Given the description of an element on the screen output the (x, y) to click on. 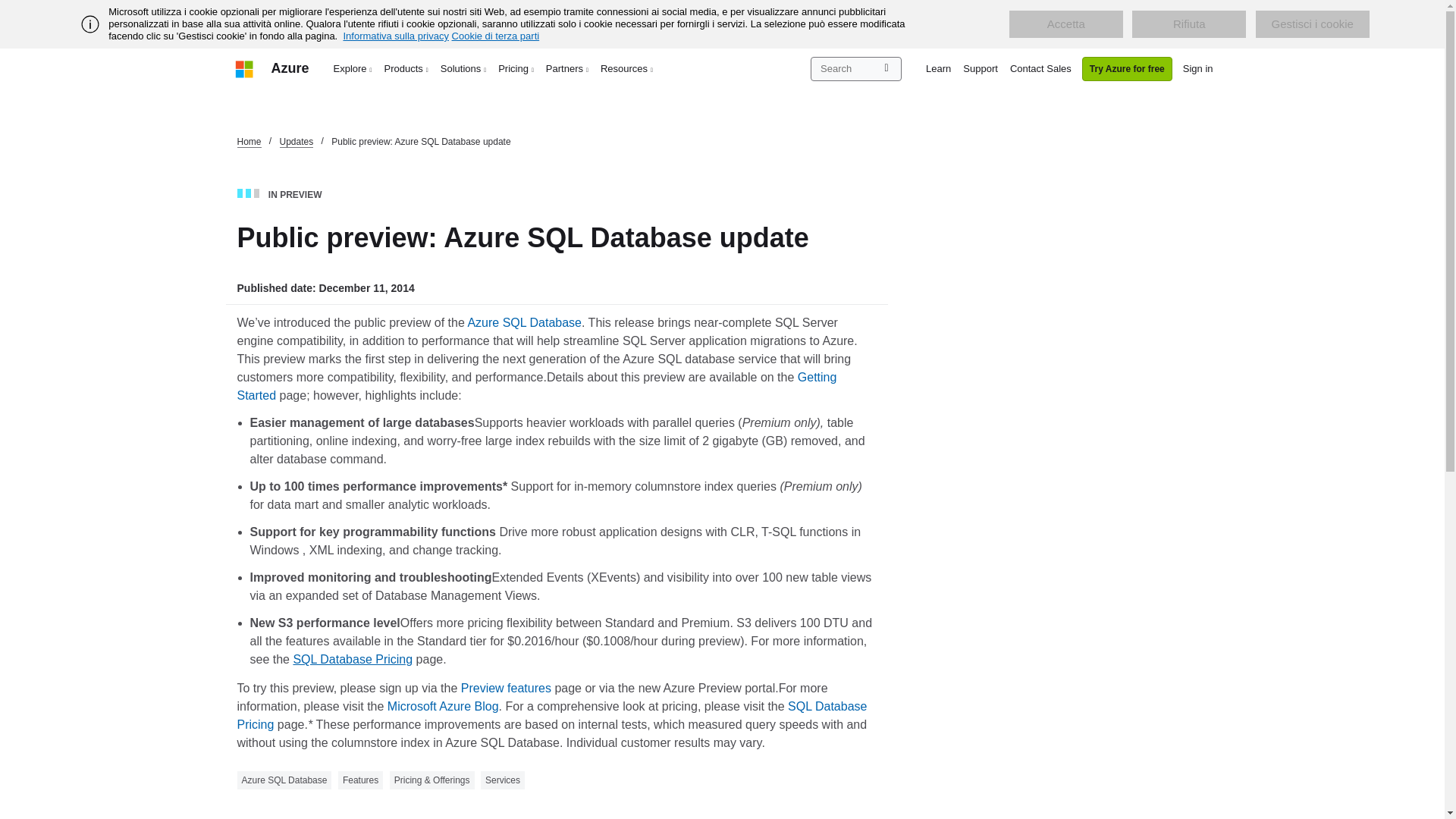
Products (405, 68)
Gestisci i cookie (1312, 23)
Accetta (1065, 23)
Rifiuta (1189, 23)
Explore (352, 68)
Azure (289, 68)
Cookie di terza parti (495, 35)
Skip to main content (7, 7)
Informativa sulla privacy (395, 35)
